Given the description of an element on the screen output the (x, y) to click on. 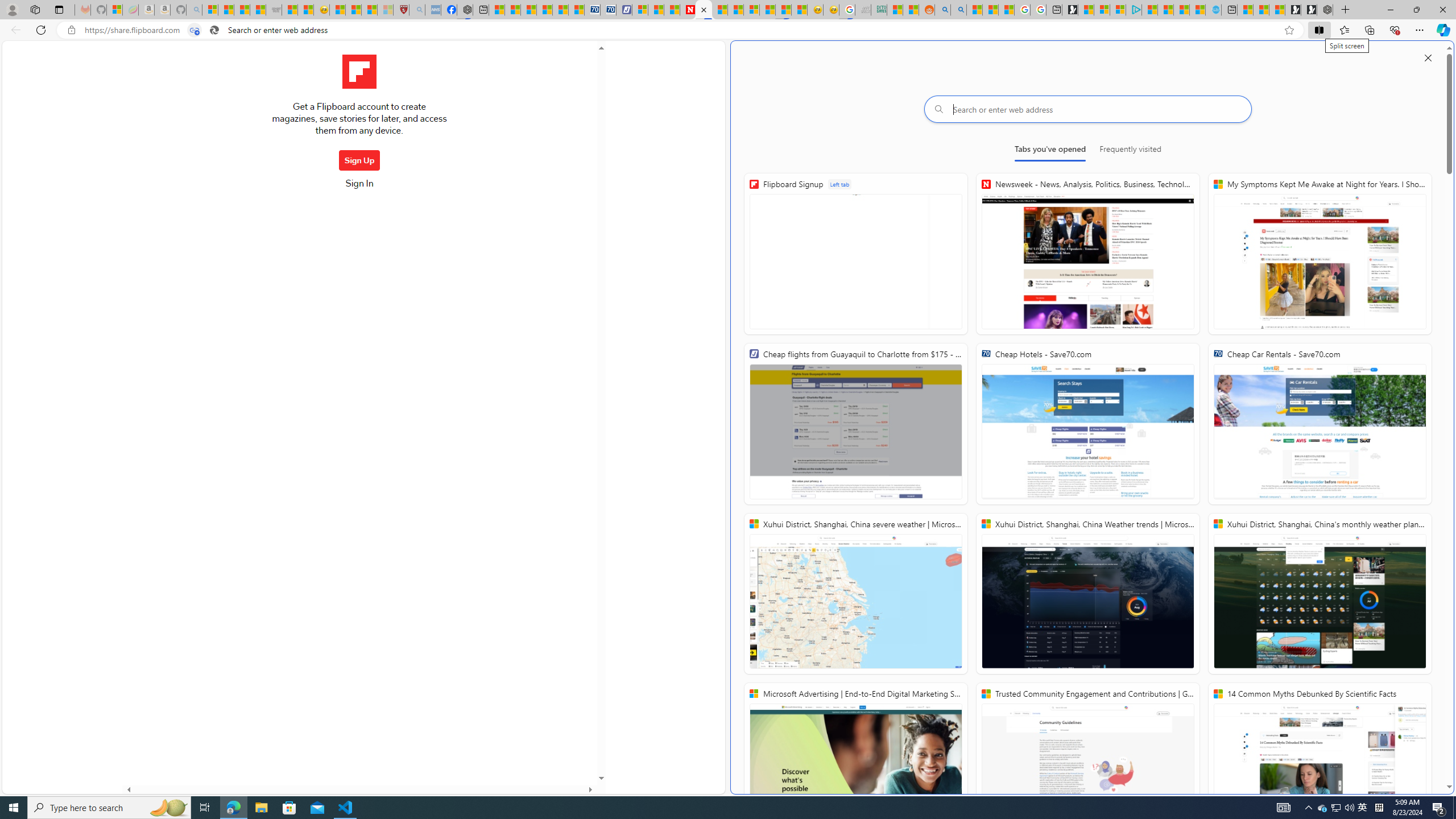
14 Common Myths Debunked By Scientific Facts (719, 9)
Newsweek - News, Analysis, Politics, Business, Technology (687, 9)
Search or enter web address (1088, 108)
Combat Siege (273, 9)
Home | Sky Blue Bikes - Sky Blue Bikes (1213, 9)
